Given the description of an element on the screen output the (x, y) to click on. 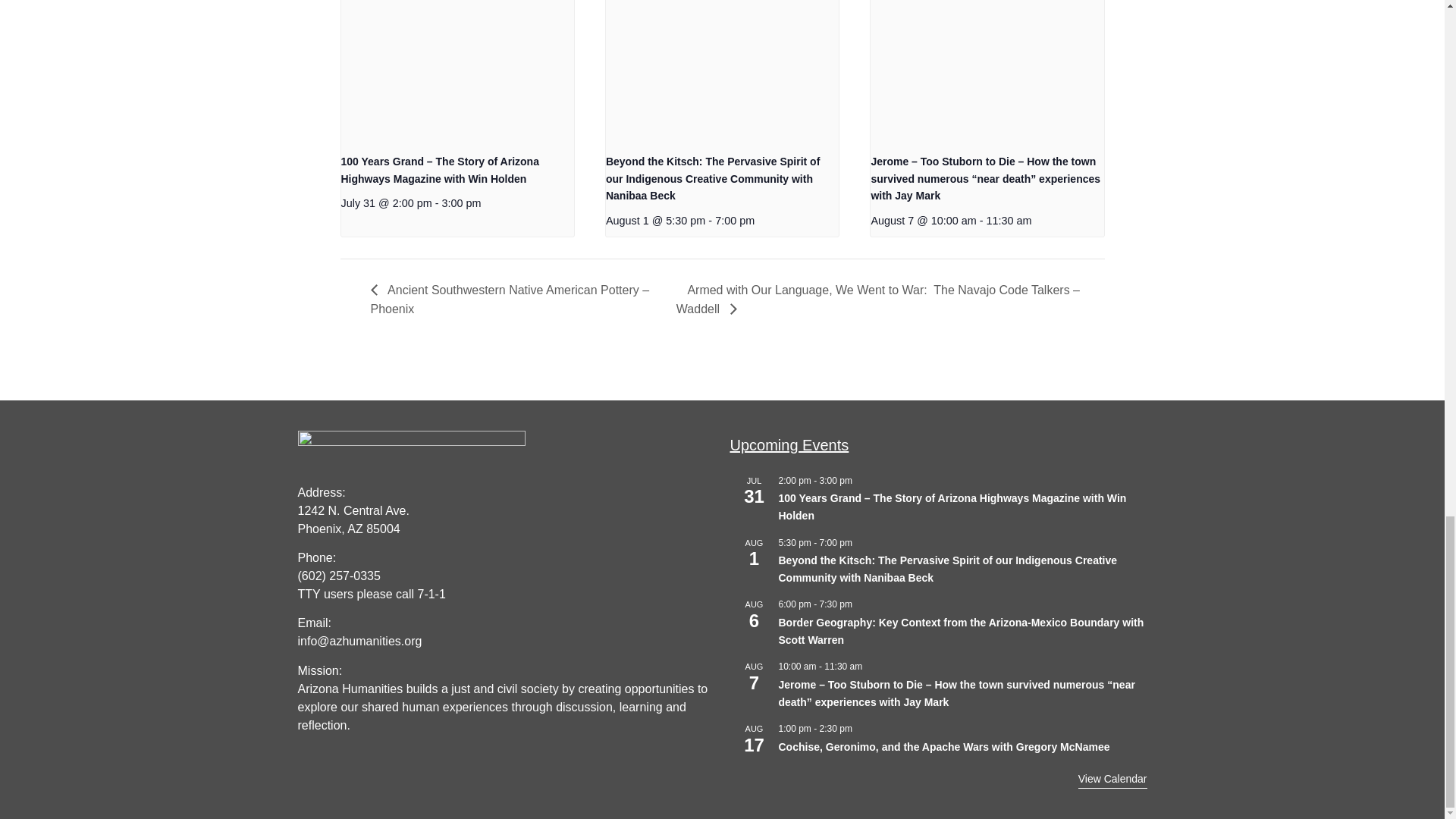
Cochise, Geronimo, and the Apache Wars with Gregory McNamee (943, 747)
View more events. (1112, 779)
